Given the description of an element on the screen output the (x, y) to click on. 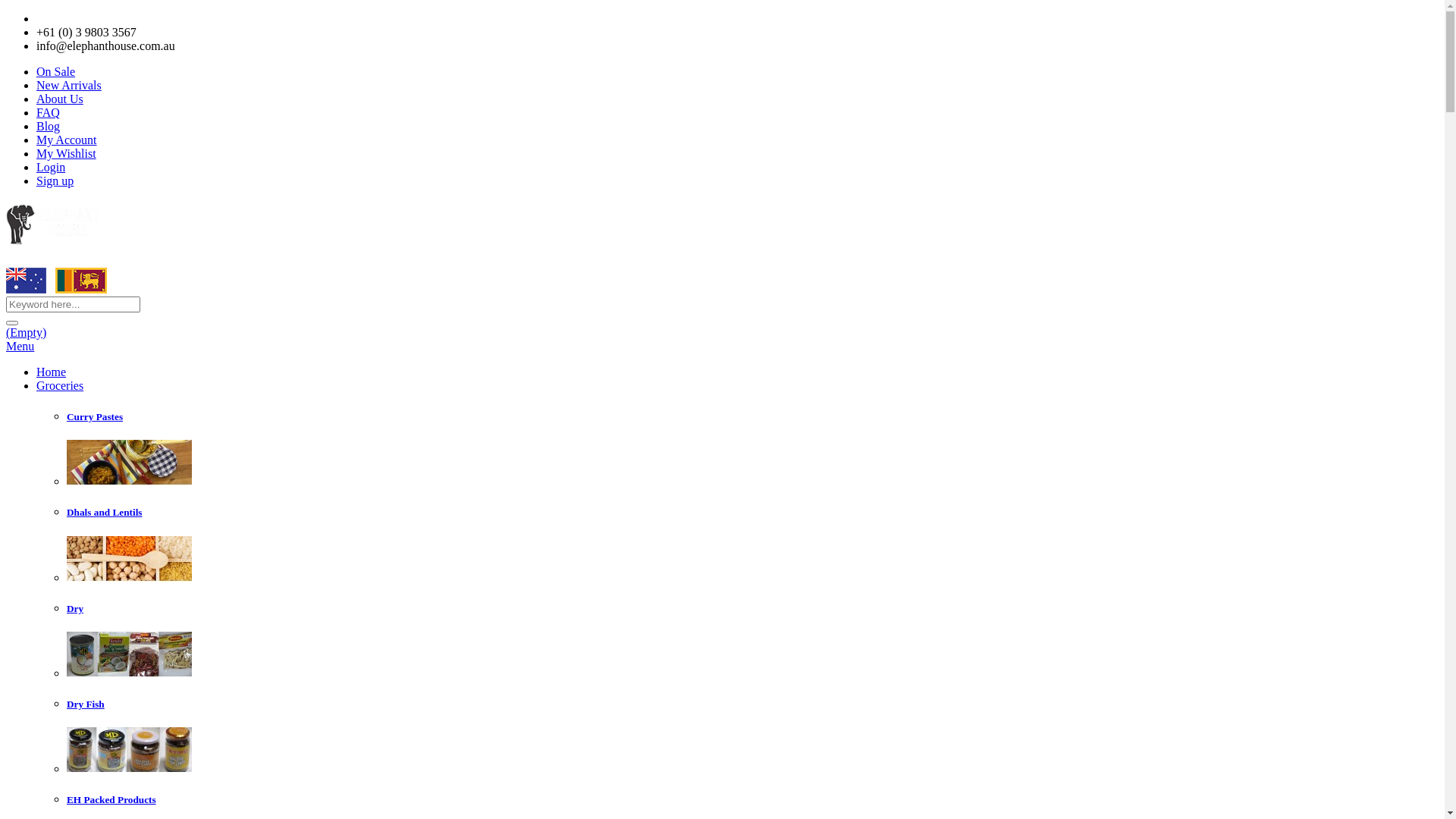
EH Packed Products Element type: text (111, 799)
Blog Element type: text (47, 125)
Dry Fish Element type: text (85, 703)
Home Element type: text (50, 371)
Curry Pastes Element type: text (94, 416)
My Account Element type: text (66, 139)
FAQ Element type: text (47, 112)
Dry Element type: text (74, 608)
About Us Element type: text (59, 98)
Dhals and Lentils Element type: text (104, 511)
Sign up Element type: text (54, 180)
My Wishlist Element type: text (66, 153)
New Arrivals Element type: text (68, 84)
(Empty) Element type: text (26, 332)
Groceries Element type: text (59, 385)
On Sale Element type: text (55, 71)
Login Element type: text (50, 166)
Menu Element type: text (20, 345)
